Given the description of an element on the screen output the (x, y) to click on. 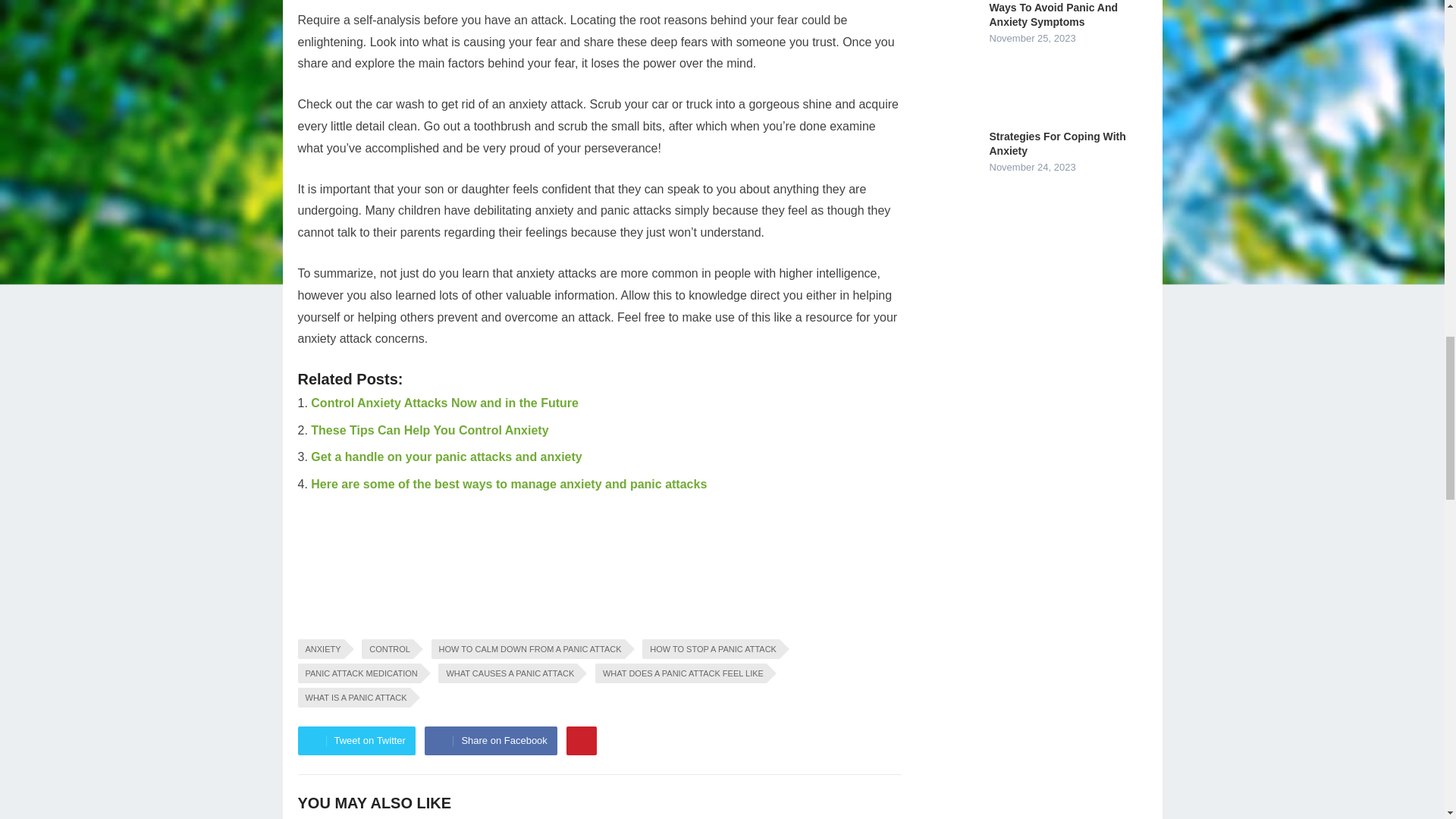
HOW TO CALM DOWN FROM A PANIC ATTACK (527, 649)
PANIC ATTACK MEDICATION (358, 673)
Control Anxiety Attacks Now and in the Future (444, 402)
HOW TO STOP A PANIC ATTACK (710, 649)
WHAT IS A PANIC ATTACK (353, 697)
Get a handle on your panic attacks and anxiety (445, 456)
These Tips Can Help You Control Anxiety (429, 430)
Share on Facebook (490, 740)
ANXIETY (320, 649)
